Given the description of an element on the screen output the (x, y) to click on. 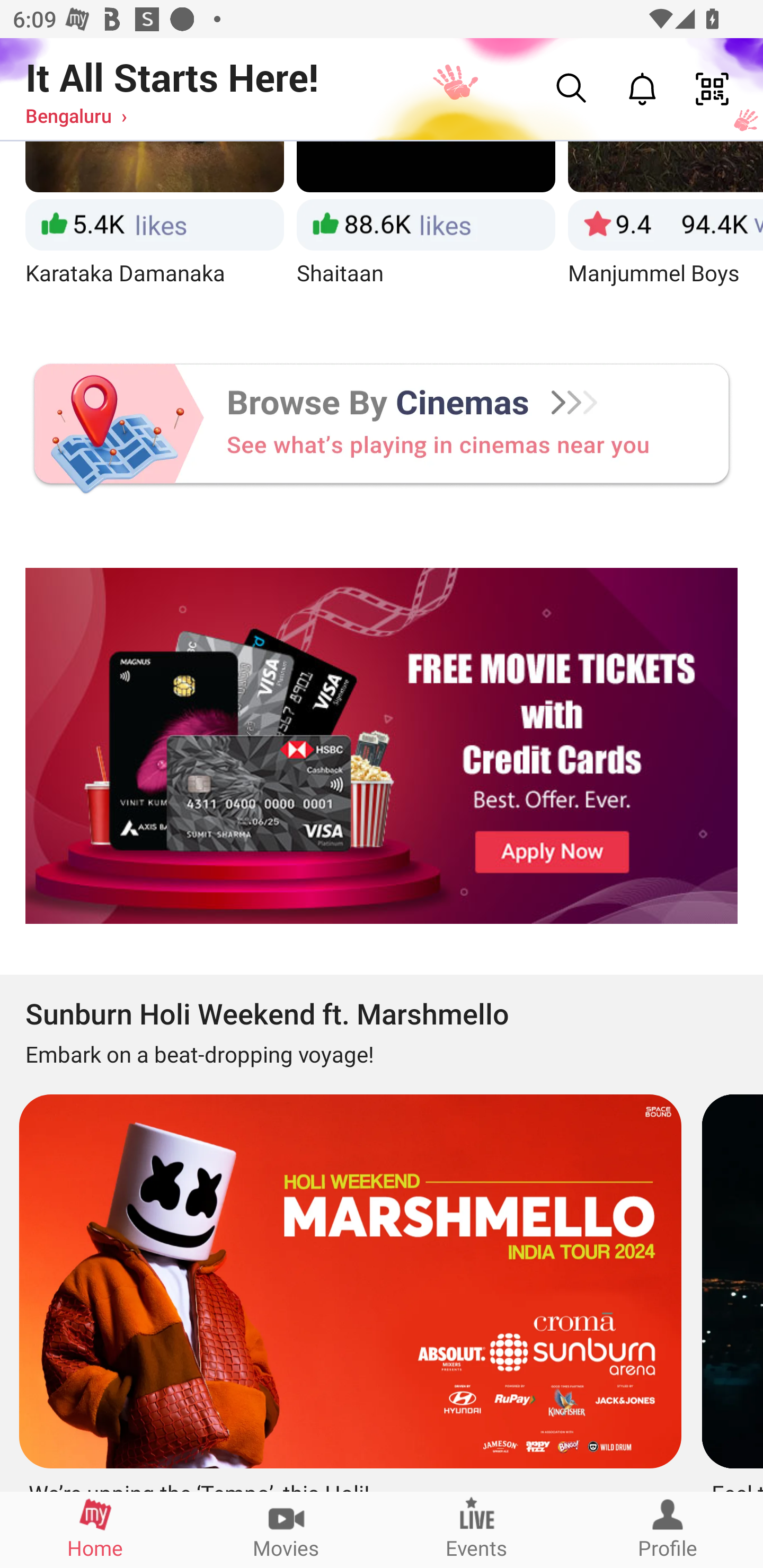
Bengaluru  › (76, 114)
Karataka Damanaka (154, 230)
Shaitaan (425, 230)
Manjummel Boys (665, 230)
We’re upping the ‘Tempo’, this Holi!  (347, 1286)
Home (95, 1529)
Movies (285, 1529)
Events (476, 1529)
Profile (667, 1529)
